Given the description of an element on the screen output the (x, y) to click on. 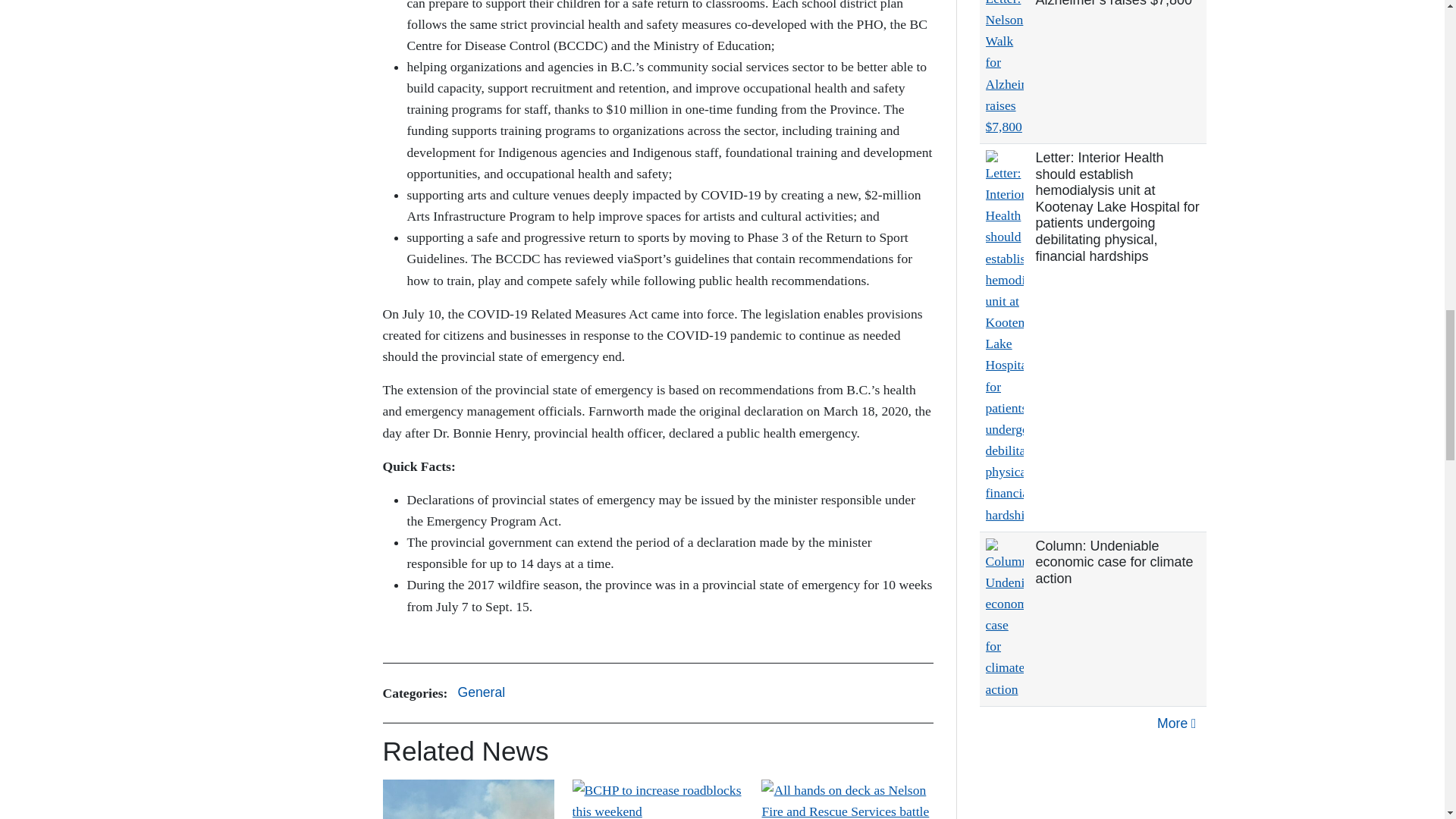
3rd party ad content (1093, 789)
General (480, 692)
